Given the description of an element on the screen output the (x, y) to click on. 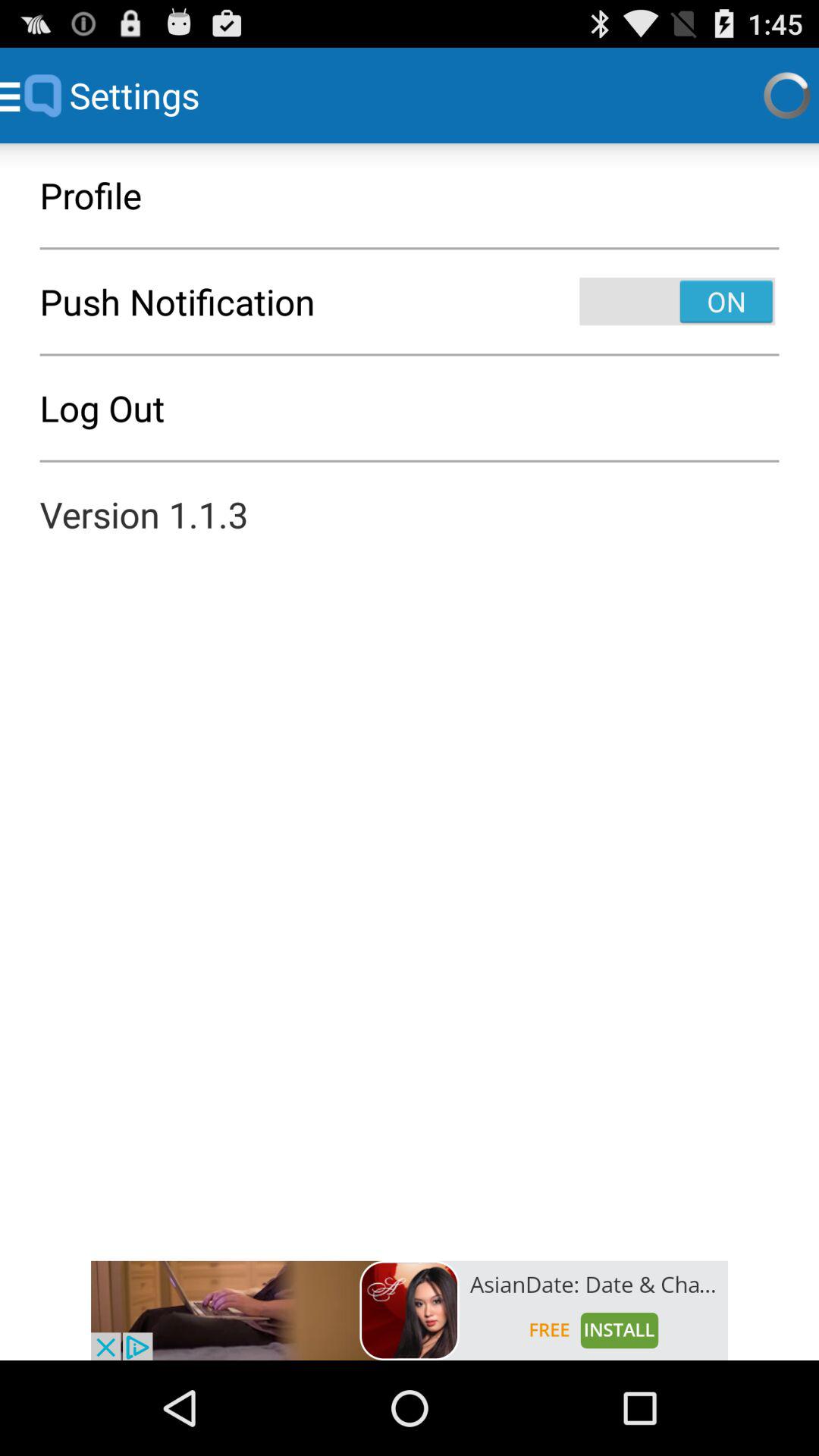
open advertisement (409, 1310)
